Given the description of an element on the screen output the (x, y) to click on. 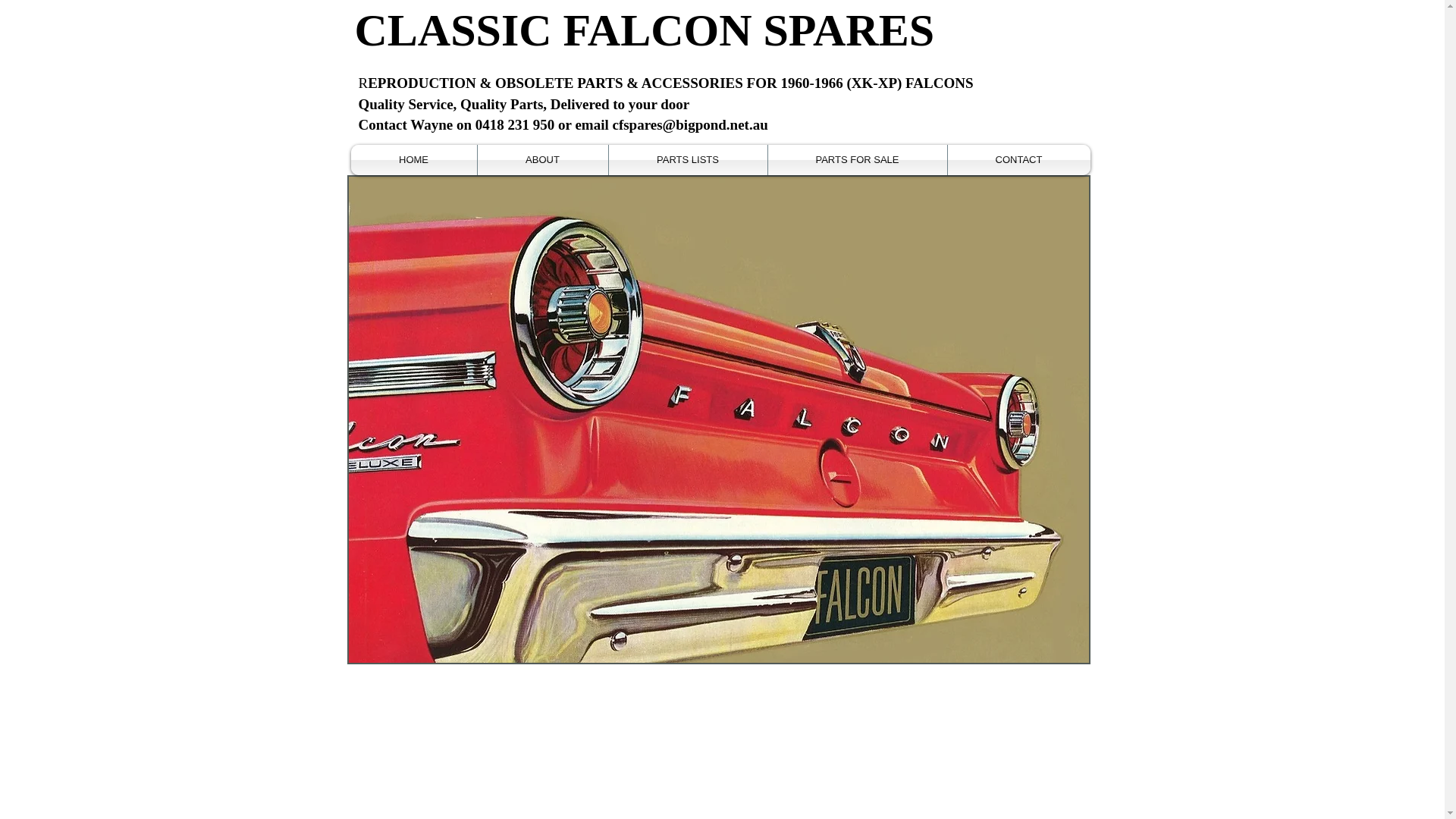
ABOUT Element type: text (542, 159)
HOME Element type: text (413, 159)
PARTS FOR SALE Element type: text (856, 159)
PARTS LISTS Element type: text (687, 159)
CONTACT Element type: text (1018, 159)
cfspares@bigpond.net.au Element type: text (689, 124)
